Given the description of an element on the screen output the (x, y) to click on. 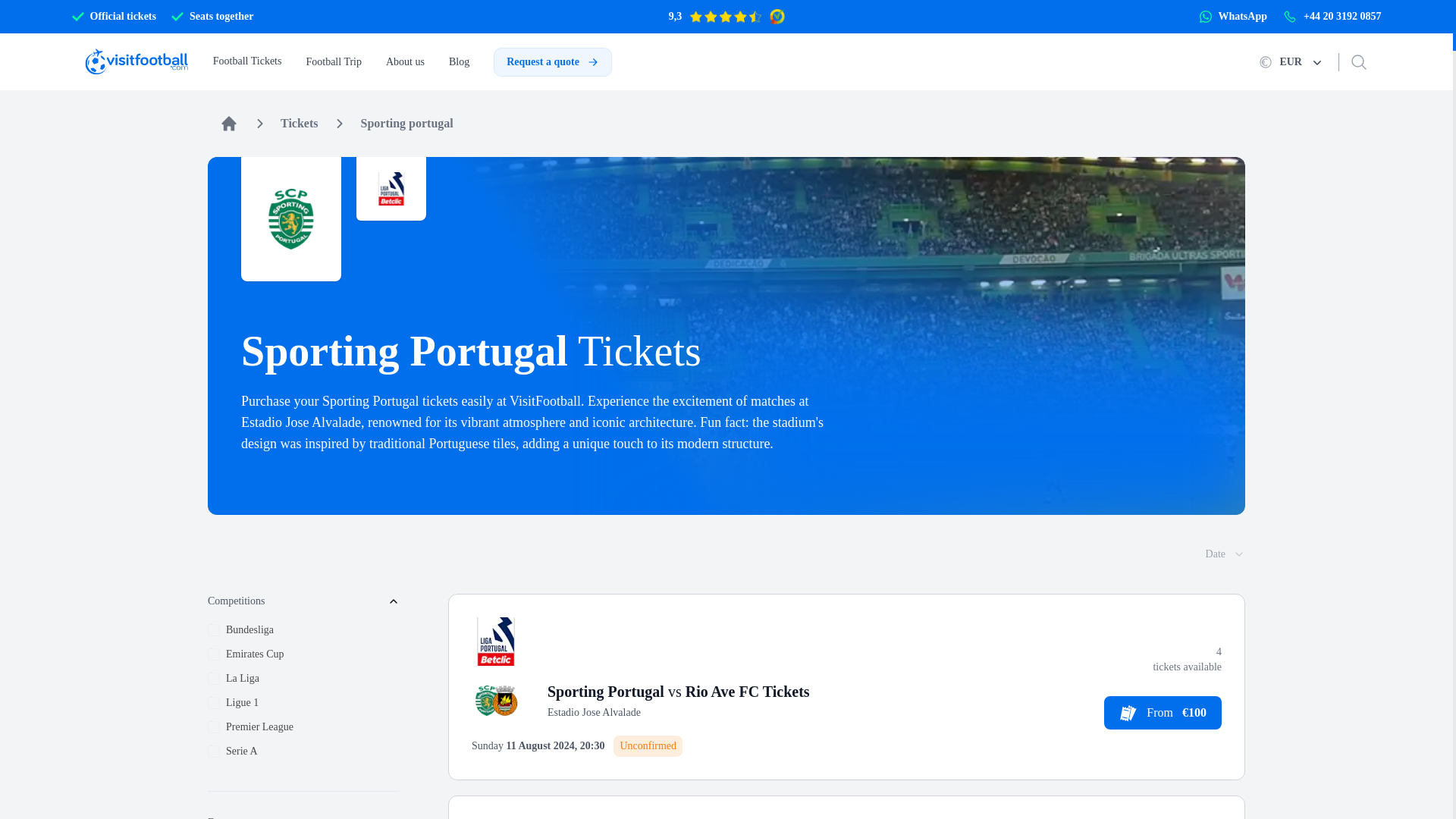
on (213, 751)
on (213, 678)
Sporting portugal (405, 123)
EUR (1291, 61)
About us (405, 61)
Football Tickets (247, 61)
Search (1358, 62)
Competitions (303, 601)
Sporting Portugal vs Rio Ave FC Tickets (678, 691)
Home (228, 123)
WhatsApp (1232, 16)
Blog (458, 61)
on (213, 702)
Date (1224, 553)
on (213, 727)
